Given the description of an element on the screen output the (x, y) to click on. 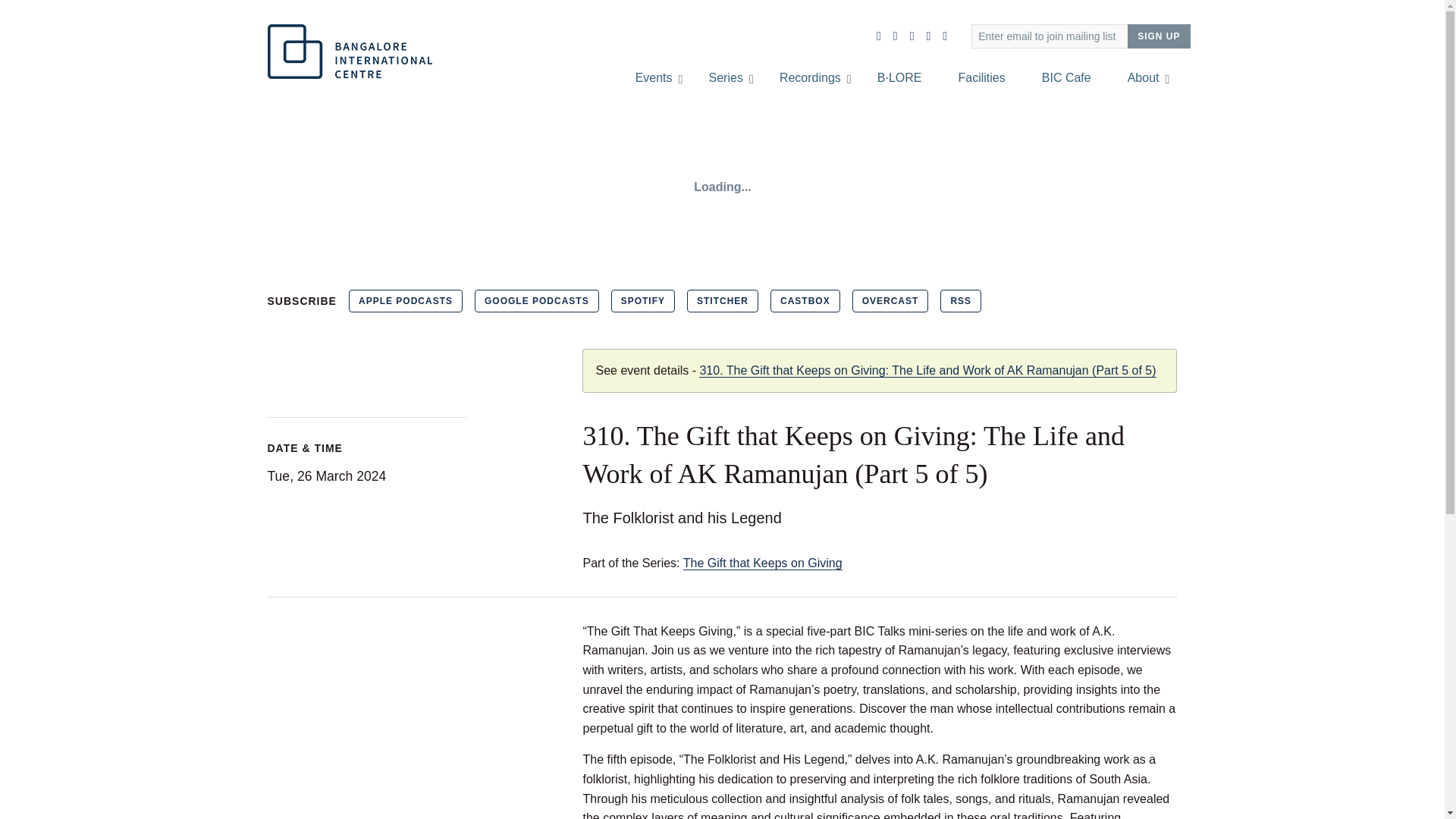
Facilities (981, 78)
SPOTIFY (643, 300)
Bangalore International Centre (348, 51)
OVERCAST (889, 300)
CASTBOX (805, 300)
Embed Player (721, 187)
Series (725, 78)
About (1143, 78)
GOOGLE PODCASTS (536, 300)
RSS (960, 300)
APPLE PODCASTS (406, 300)
Recordings (810, 78)
STITCHER (722, 300)
Sign Up (1157, 36)
BANGALORE INTERNATIONAL CENTRE (348, 51)
